Given the description of an element on the screen output the (x, y) to click on. 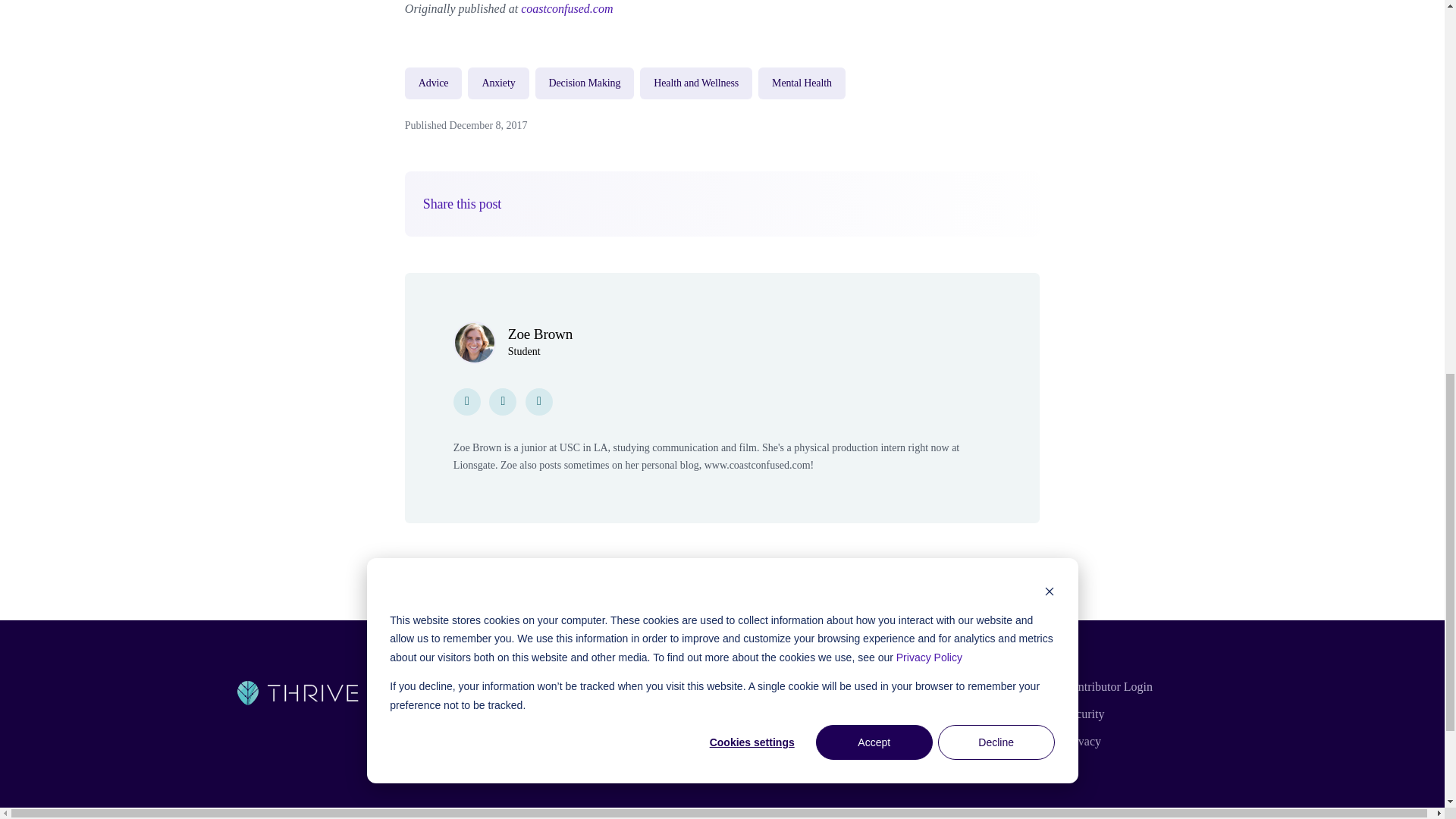
LinkedIn (502, 400)
Personal Website (539, 400)
Zoe Brown (540, 333)
Instagram (466, 400)
